Given the description of an element on the screen output the (x, y) to click on. 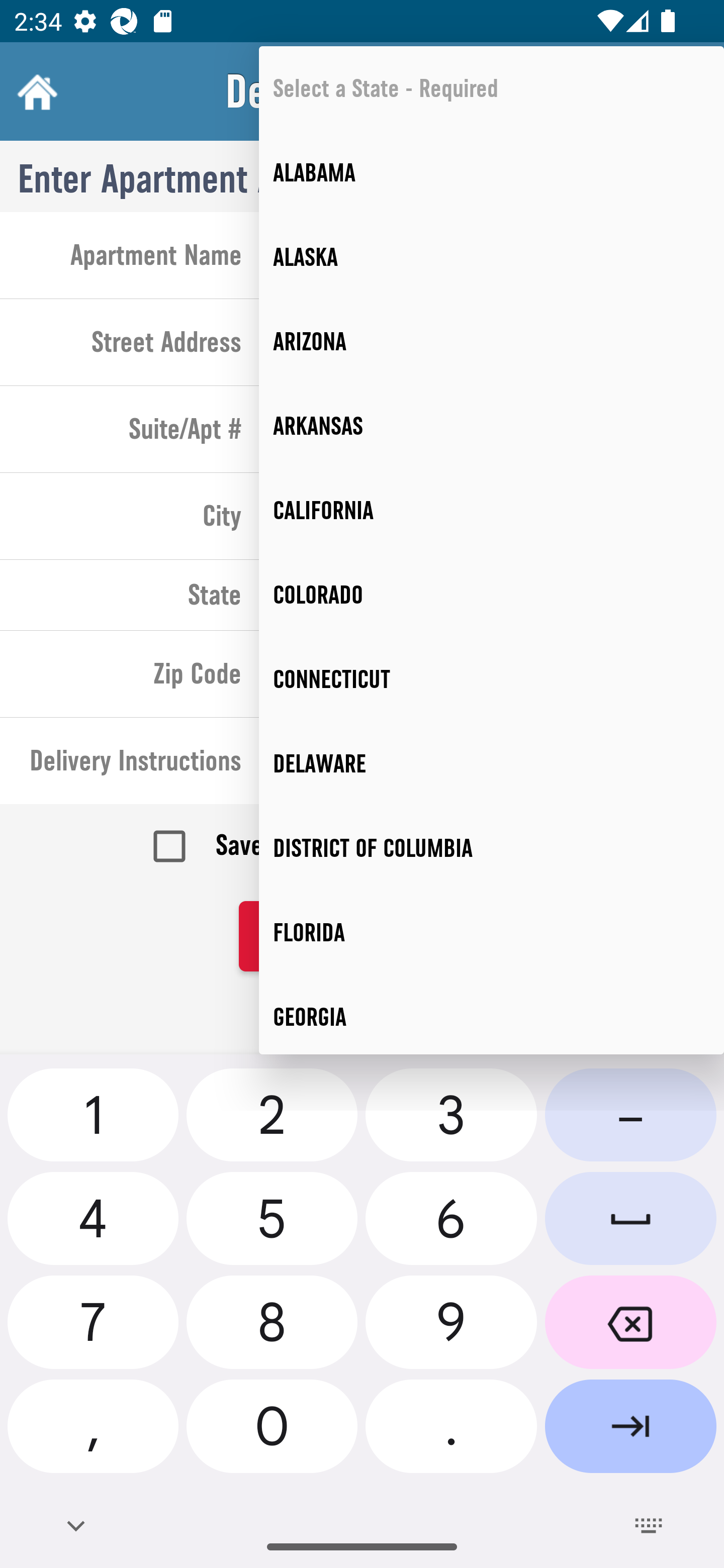
Select a State - Required (491, 87)
ALABAMA (491, 172)
ALASKA (491, 256)
ARIZONA (491, 341)
ARKANSAS (491, 426)
CALIFORNIA (491, 510)
COLORADO (491, 594)
CONNECTICUT (491, 678)
DELAWARE (491, 763)
DISTRICT OF COLUMBIA (491, 847)
FLORIDA (491, 932)
GEORGIA (491, 1014)
